Given the description of an element on the screen output the (x, y) to click on. 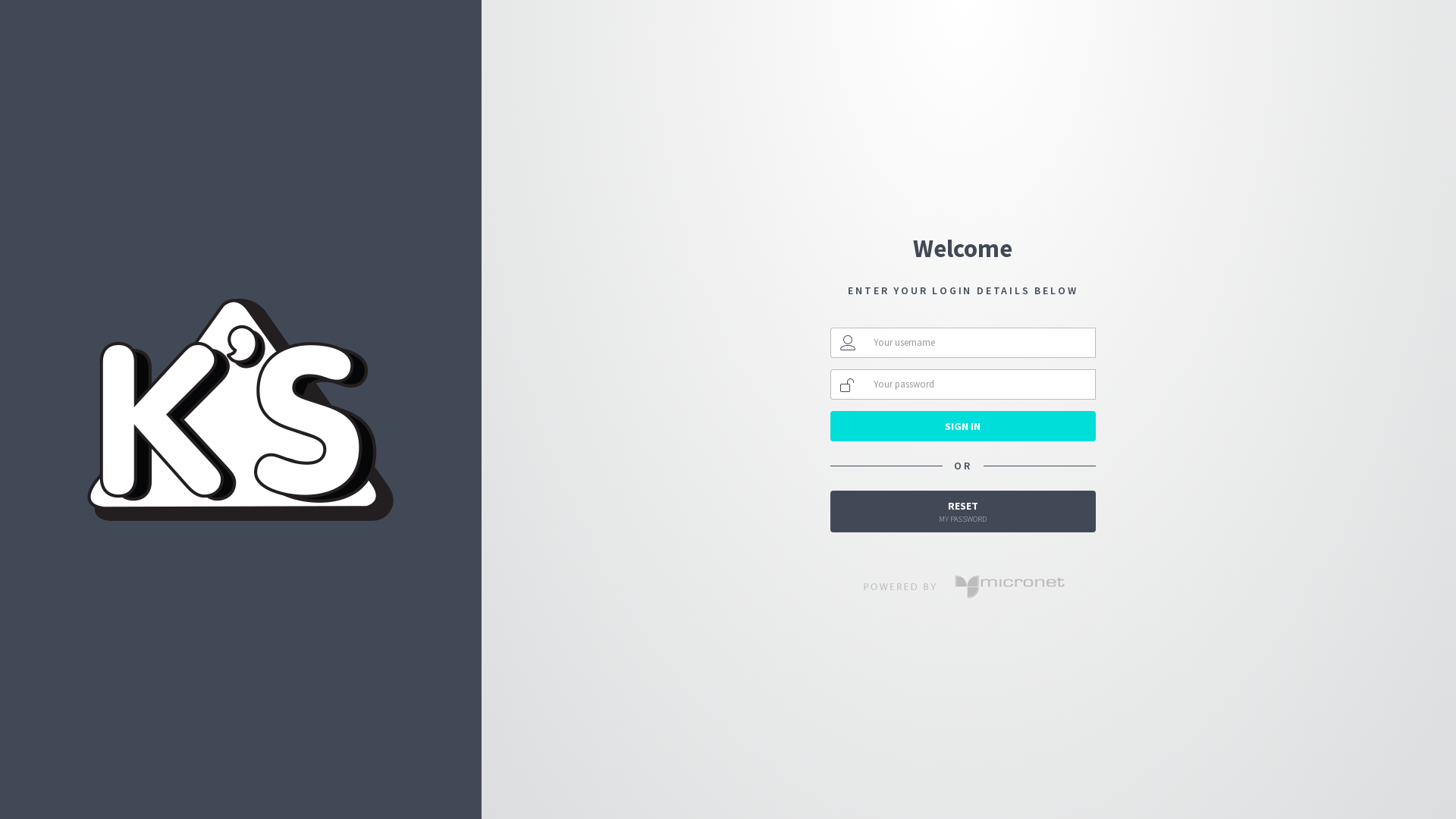
RESET
MY PASSWORD Element type: text (962, 511)
SIGN IN Element type: text (962, 426)
